Given the description of an element on the screen output the (x, y) to click on. 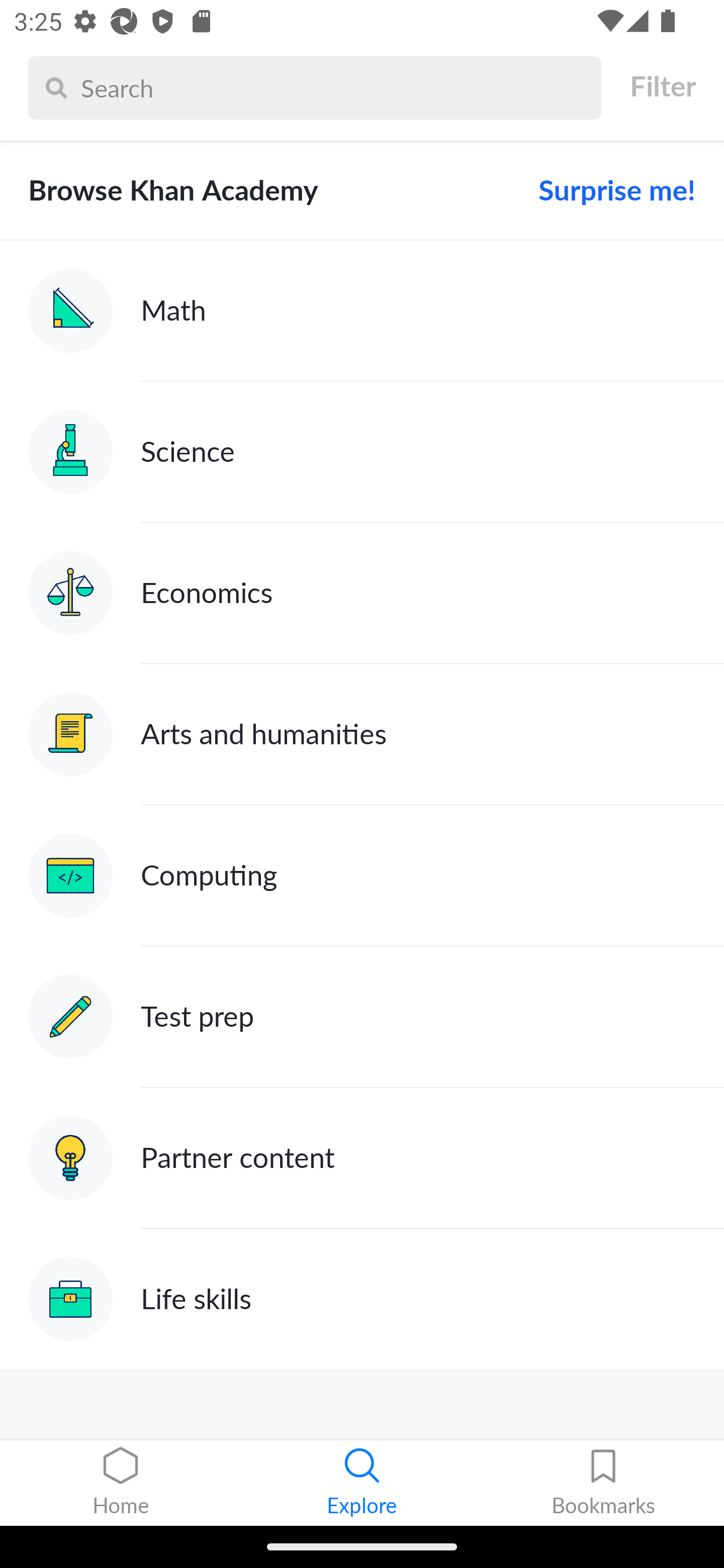
Search Search Search (314, 87)
Search (335, 87)
Filter (662, 85)
Surprise me! (609, 190)
Math (362, 310)
Science (362, 451)
Economics (362, 592)
Arts and humanities (362, 733)
Computing (362, 875)
Test prep (362, 1017)
Partner content (362, 1158)
Life skills (362, 1298)
Home (120, 1482)
Explore (361, 1482)
Bookmarks (603, 1482)
